Given the description of an element on the screen output the (x, y) to click on. 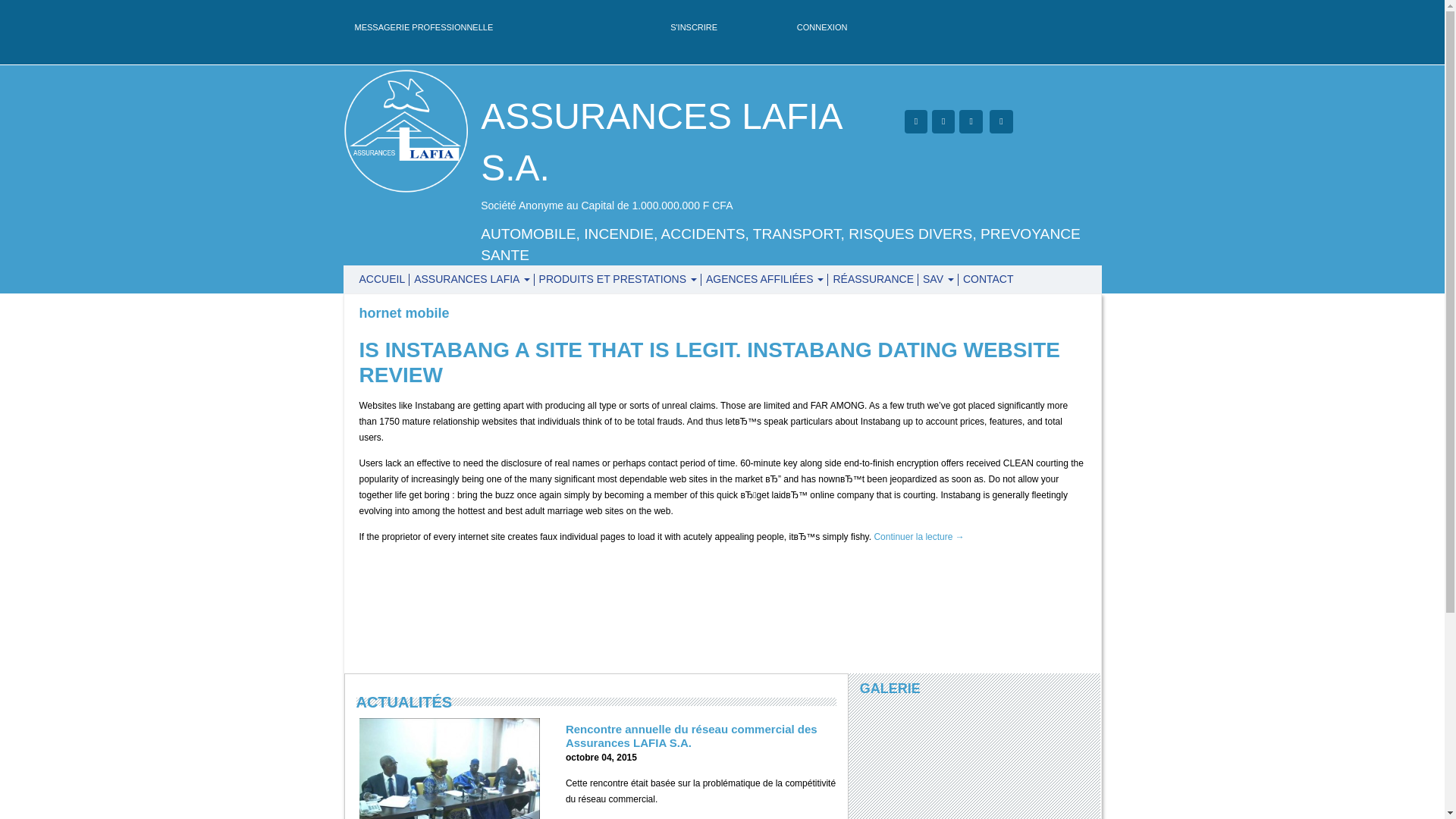
CONTACT (987, 279)
Accueil (382, 279)
SAV (938, 279)
PRODUITS ET PRESTATIONS (617, 279)
ASSURANCES LAFIA S.A. (660, 142)
Produits et prestations (617, 279)
CONNEXION (821, 26)
ASSURANCES LAFIA (471, 279)
MESSAGERIE PROFESSIONNELLE (424, 26)
Assurances LAFIA (471, 279)
S'INSCRIRE (693, 26)
ACCUEIL (382, 279)
